Given the description of an element on the screen output the (x, y) to click on. 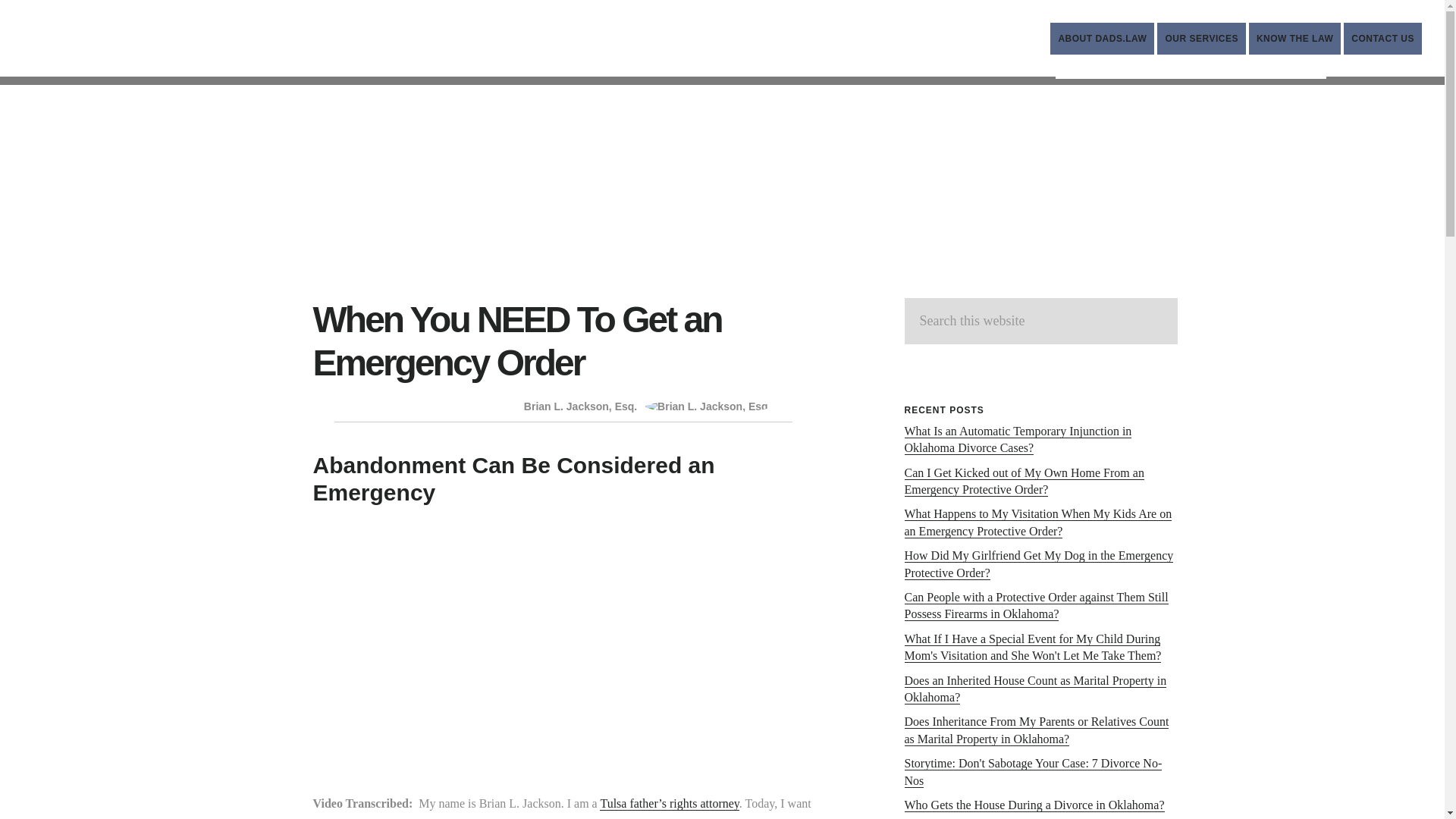
ABOUT DADS.LAW (1101, 38)
OUR SERVICES (1200, 38)
YouTube video player (562, 640)
CONTACT US (221, 46)
Search (1382, 38)
